Given the description of an element on the screen output the (x, y) to click on. 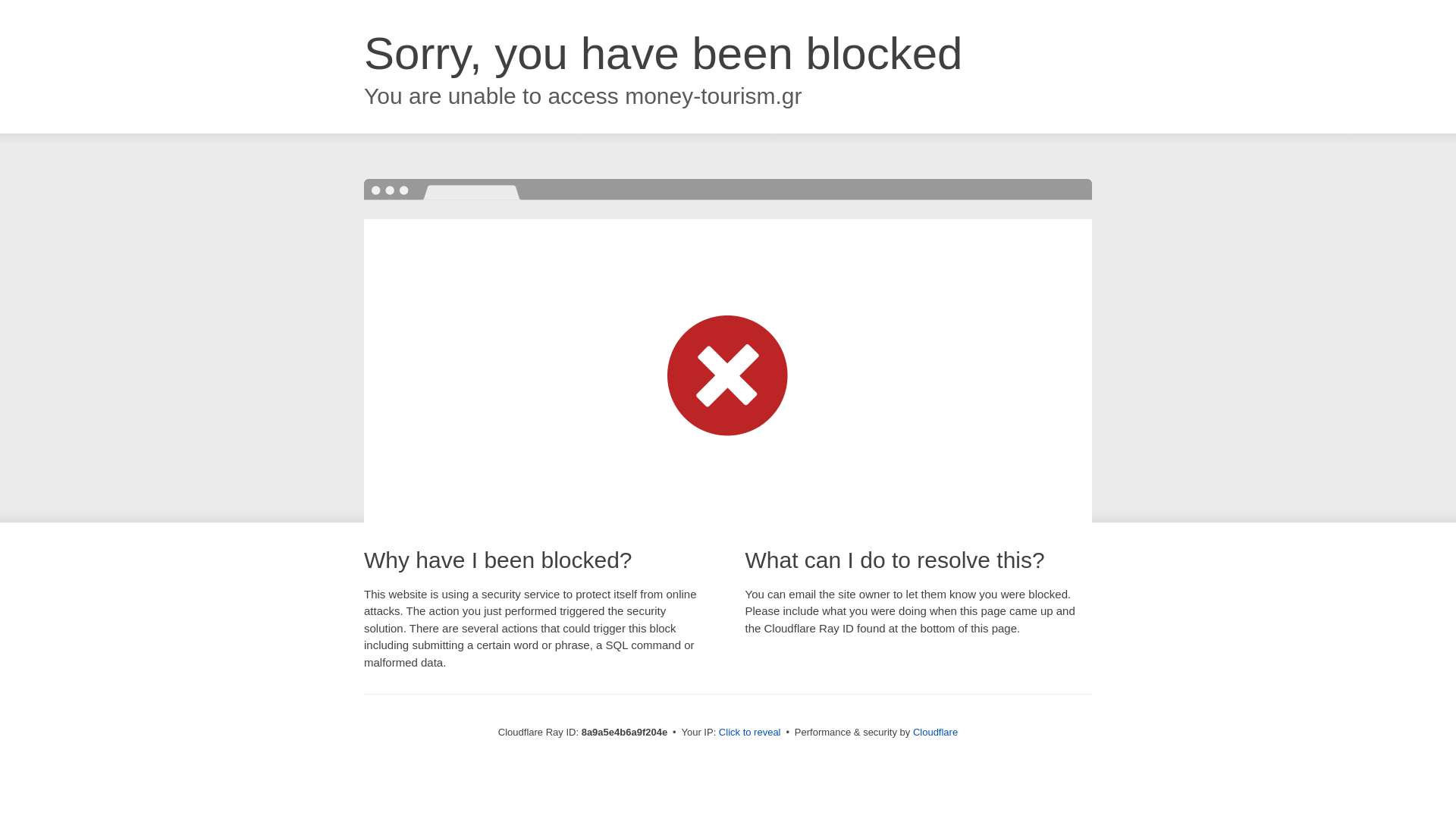
Cloudflare (935, 731)
Click to reveal (749, 732)
